Given the description of an element on the screen output the (x, y) to click on. 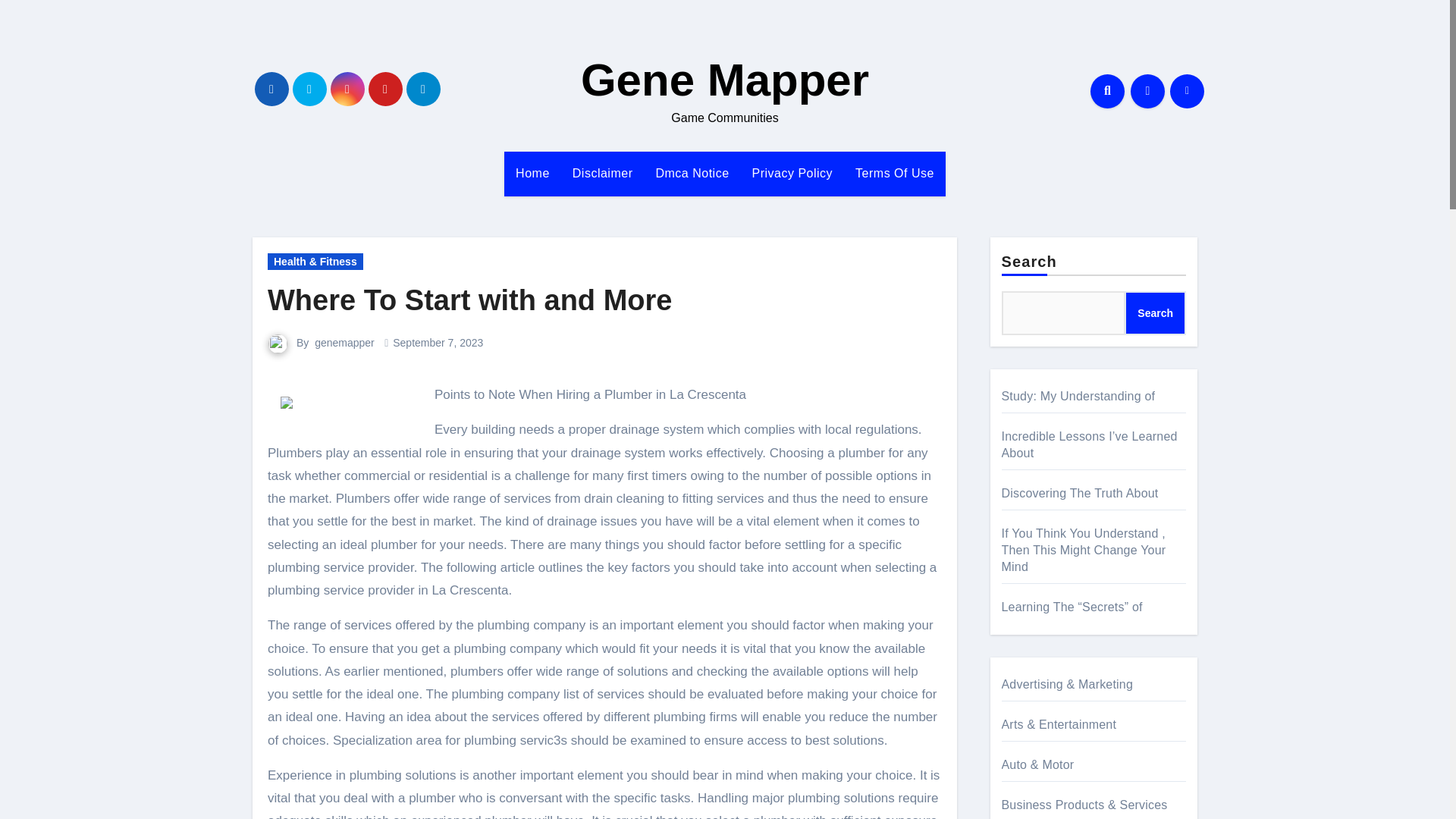
September 7, 2023 (438, 342)
Gene Mapper (724, 79)
Privacy Policy (792, 173)
Home (531, 173)
Permalink to: Where To Start with  and More (469, 300)
Disclaimer (602, 173)
Where To Start with and More (469, 300)
Dmca Notice (691, 173)
Home (531, 173)
genemapper (344, 342)
Terms Of Use (894, 173)
